Given the description of an element on the screen output the (x, y) to click on. 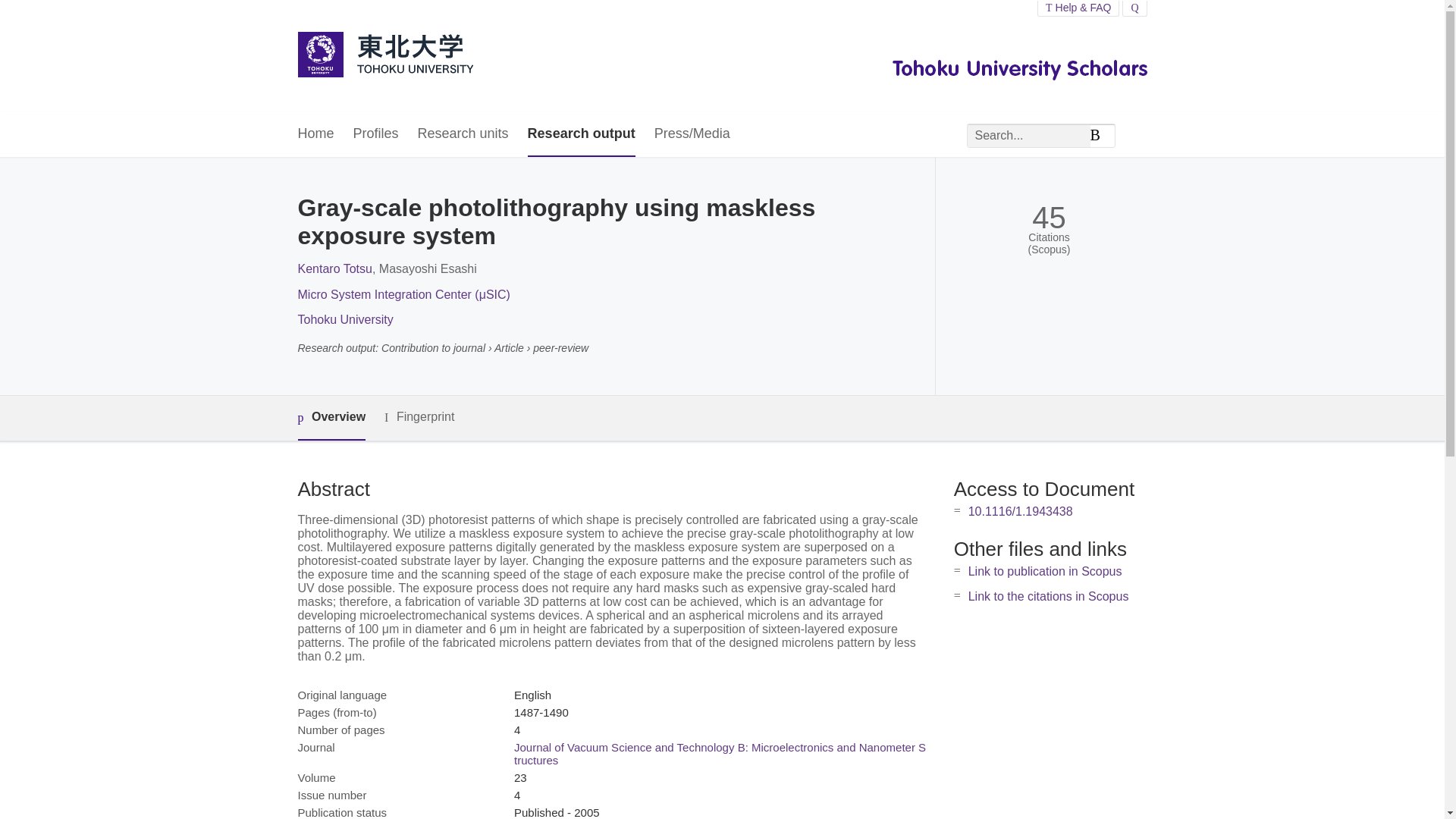
Overview (331, 417)
Research output (580, 134)
Link to publication in Scopus (1045, 571)
Tohoku University (345, 318)
Fingerprint (419, 416)
Link to the citations in Scopus (1048, 595)
Kentaro Totsu (334, 268)
Tohoku University Home (384, 55)
Profiles (375, 134)
Research units (462, 134)
